Given the description of an element on the screen output the (x, y) to click on. 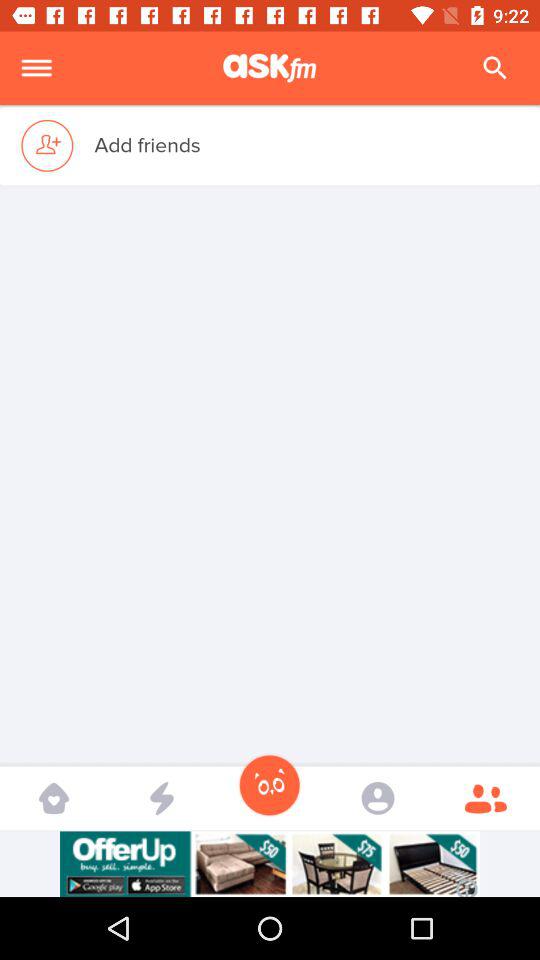
advertisement (270, 864)
